Given the description of an element on the screen output the (x, y) to click on. 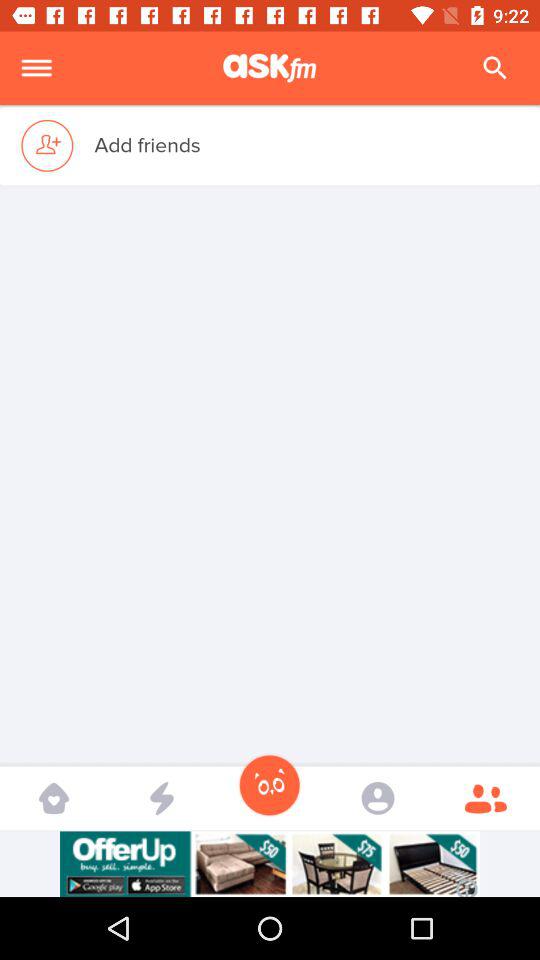
advertisement (270, 864)
